Given the description of an element on the screen output the (x, y) to click on. 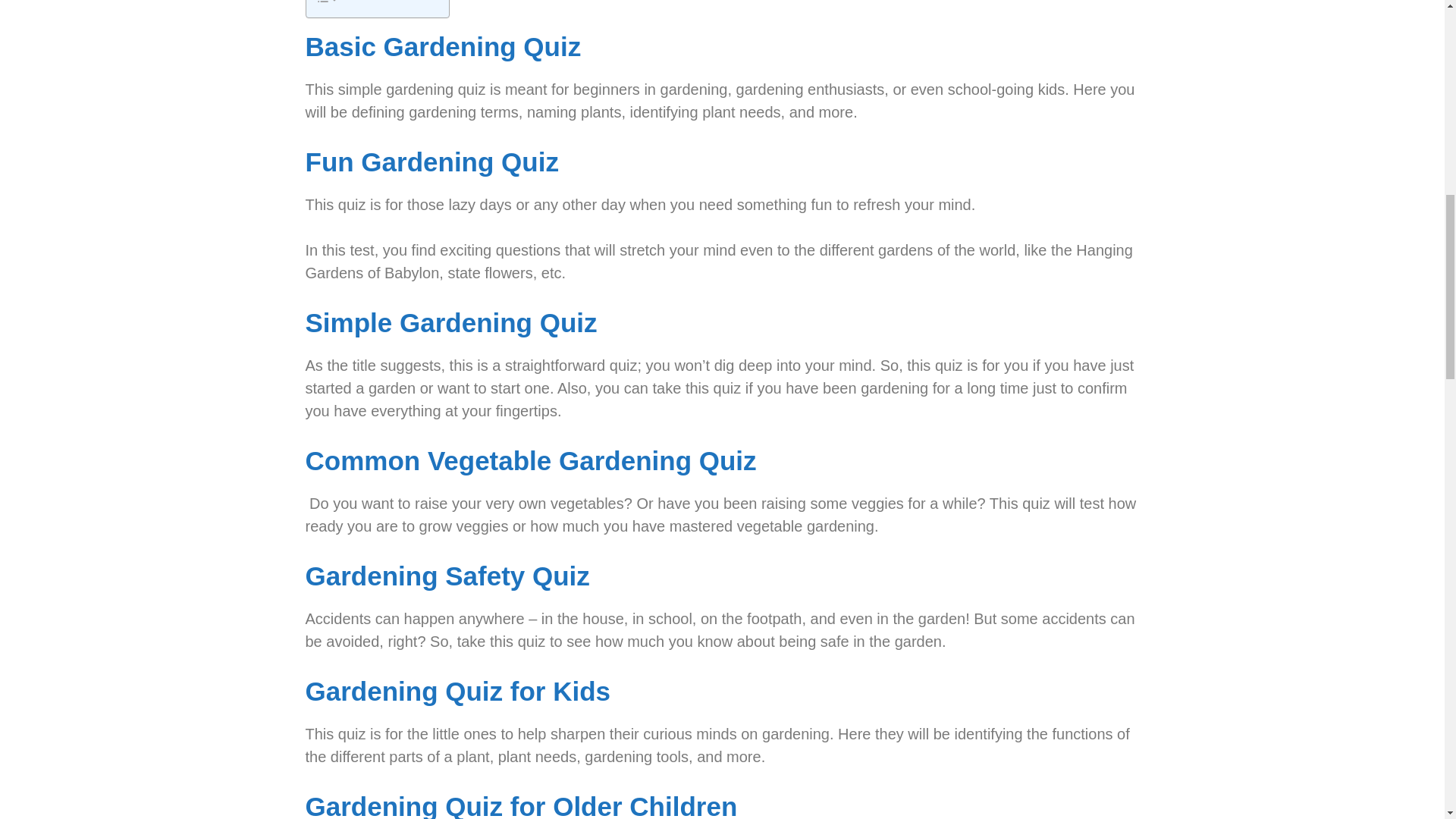
Common Vegetable Gardening Quiz (529, 460)
Fun Gardening Quiz (430, 161)
Gardening Quiz for Older Children (520, 805)
Gardening Safety Quiz (446, 575)
Gardening Quiz for Kids (457, 690)
Basic Gardening Quiz (442, 46)
Simple Gardening Quiz (450, 322)
